Given the description of an element on the screen output the (x, y) to click on. 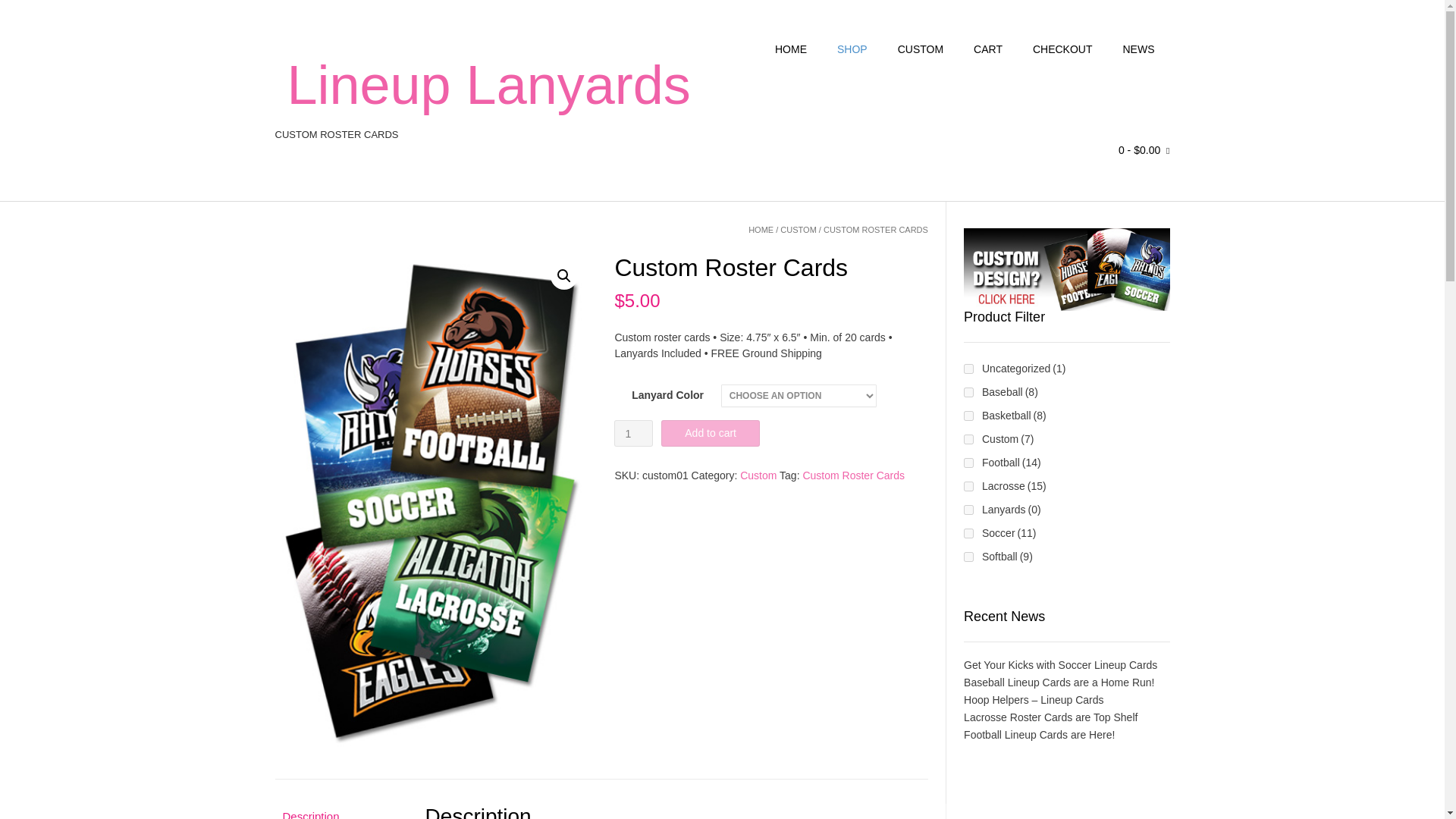
Baseball Lineup Cards are a Home Run! (1058, 682)
46 (968, 392)
37 (968, 415)
Add to cart (710, 433)
HOME (760, 229)
17 (968, 533)
77 (968, 439)
CUSTOM (797, 229)
67 (968, 556)
Lacrosse Roster Cards are Top Shelf (1050, 717)
Get Your Kicks with Soccer Lineup Cards (1060, 664)
Lineup Lanyards (488, 84)
CHECKOUT (1062, 50)
21 (968, 486)
Lineup Lanyards (488, 84)
